Given the description of an element on the screen output the (x, y) to click on. 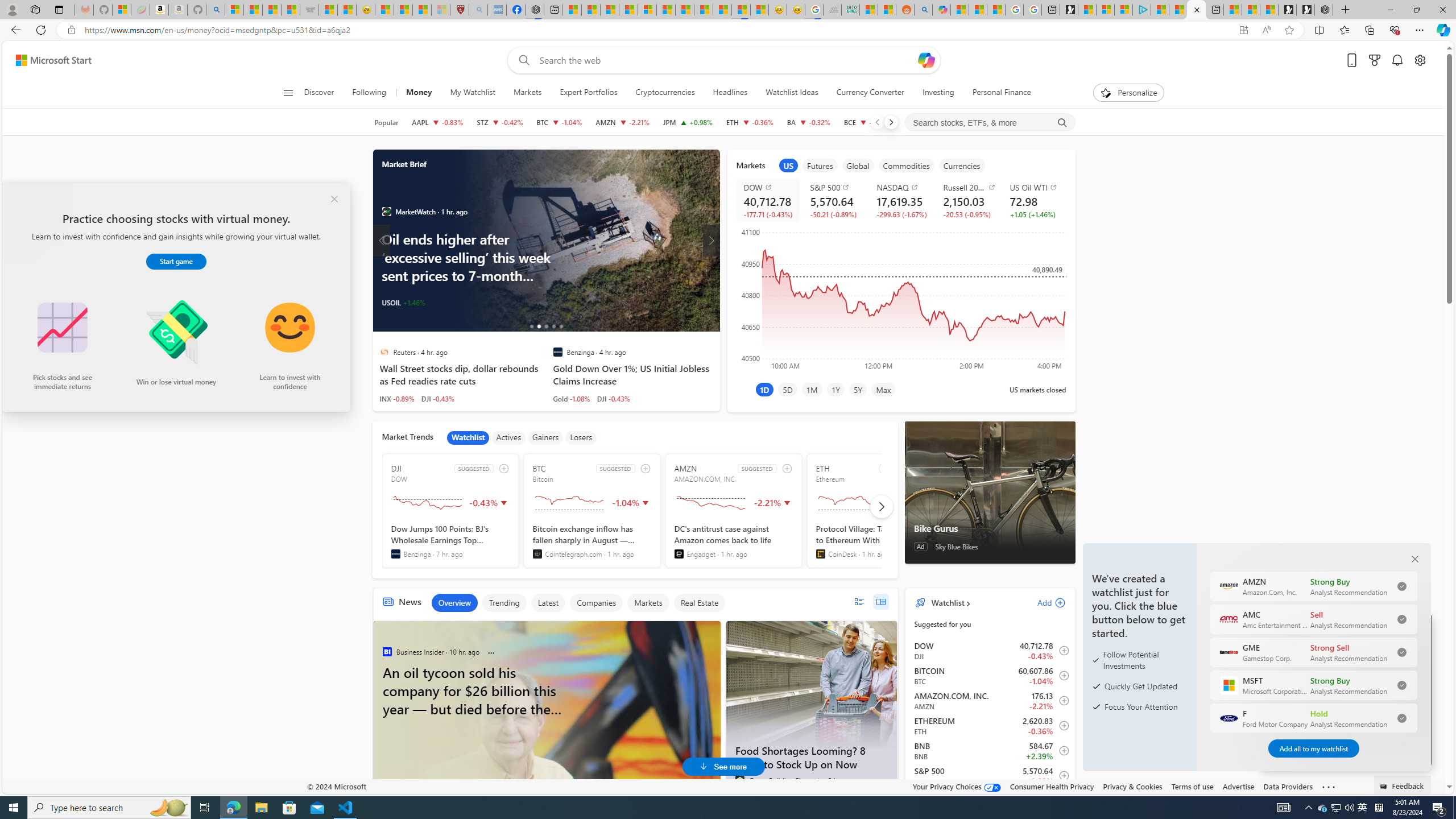
list layout (858, 601)
DJI DOW decrease 40,712.78 -177.71 -0.43% item0 (989, 650)
DOW DJI decrease 40,712.78 -177.71 -0.43% (767, 200)
BTC Bitcoin decrease 60,607.86 -629.74 -1.04% item1 (989, 675)
USOIL +1.46% (403, 302)
Headlines (730, 92)
item5 (962, 164)
